Given the description of an element on the screen output the (x, y) to click on. 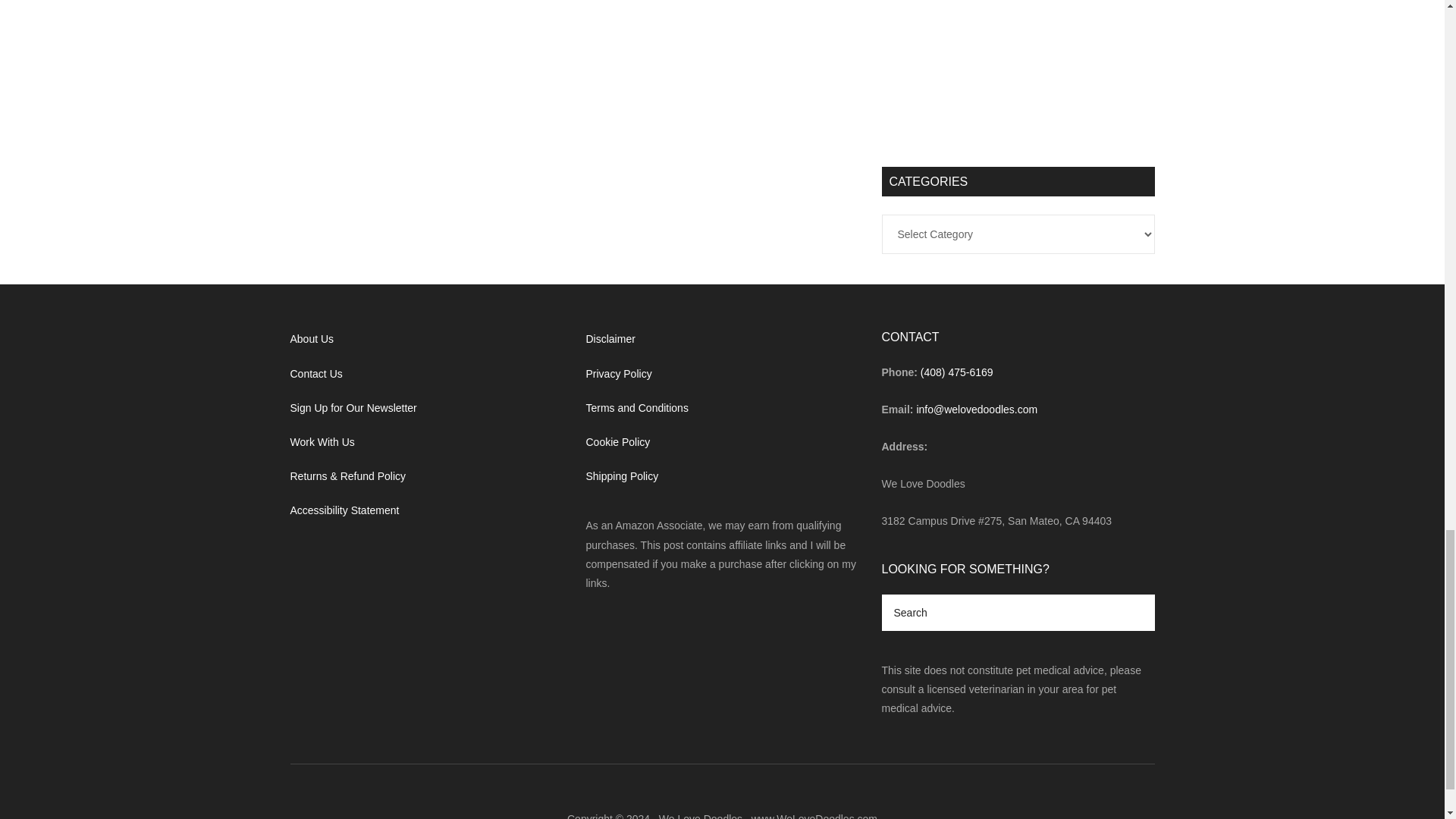
Contact Us (315, 373)
Sign Up for Our Newsletter (352, 408)
Work With Us (321, 441)
About Us (311, 338)
